Given the description of an element on the screen output the (x, y) to click on. 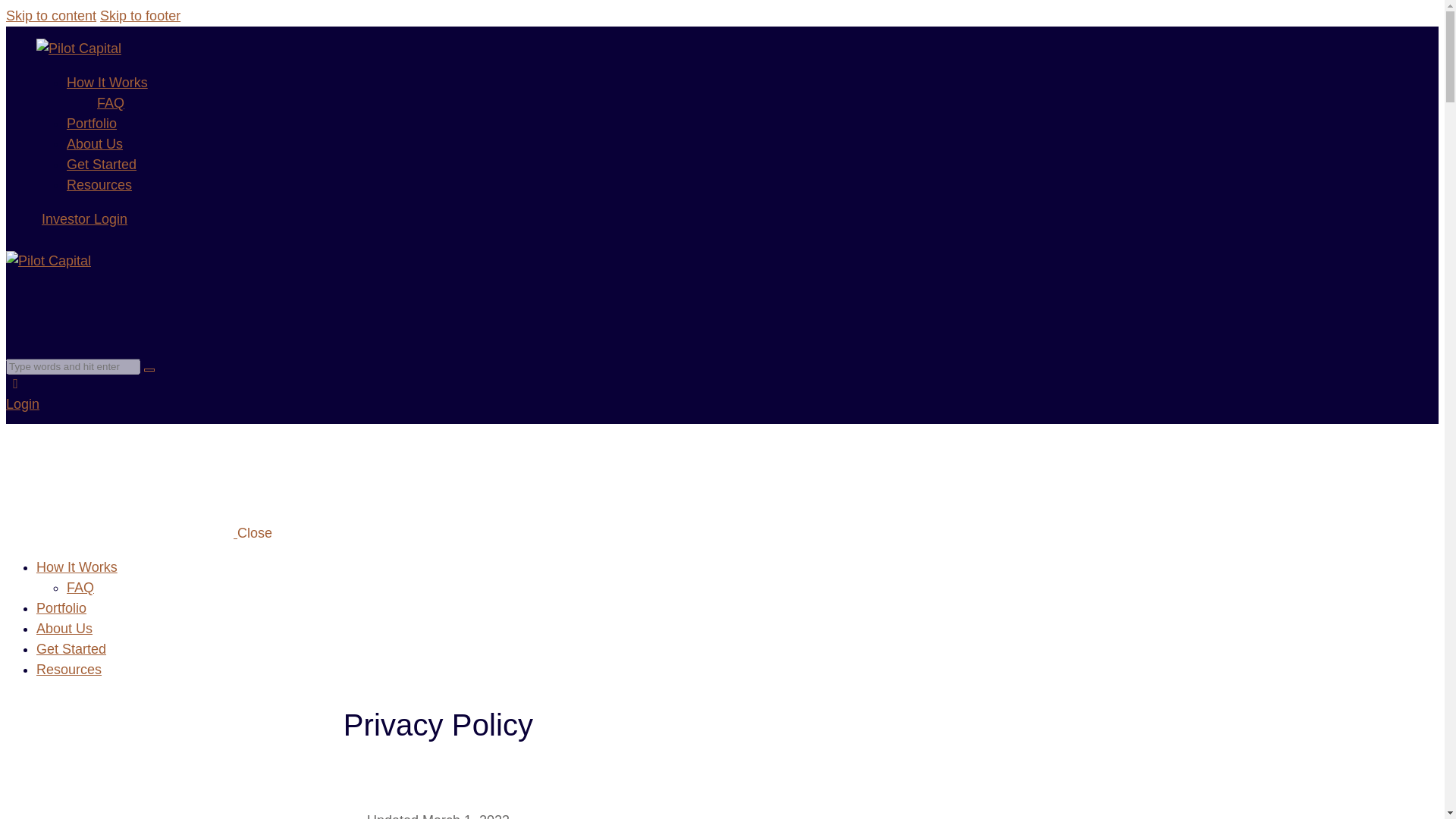
Close (254, 532)
FAQ (110, 102)
Portfolio (60, 607)
Investor Login (85, 218)
Get Started (71, 648)
Get Started (101, 164)
FAQ (80, 587)
How It Works (107, 82)
Skip to footer (140, 15)
Skip to content (50, 15)
Resources (68, 669)
How It Works (76, 566)
About Us (94, 143)
Login (22, 403)
About Us (64, 628)
